Given the description of an element on the screen output the (x, y) to click on. 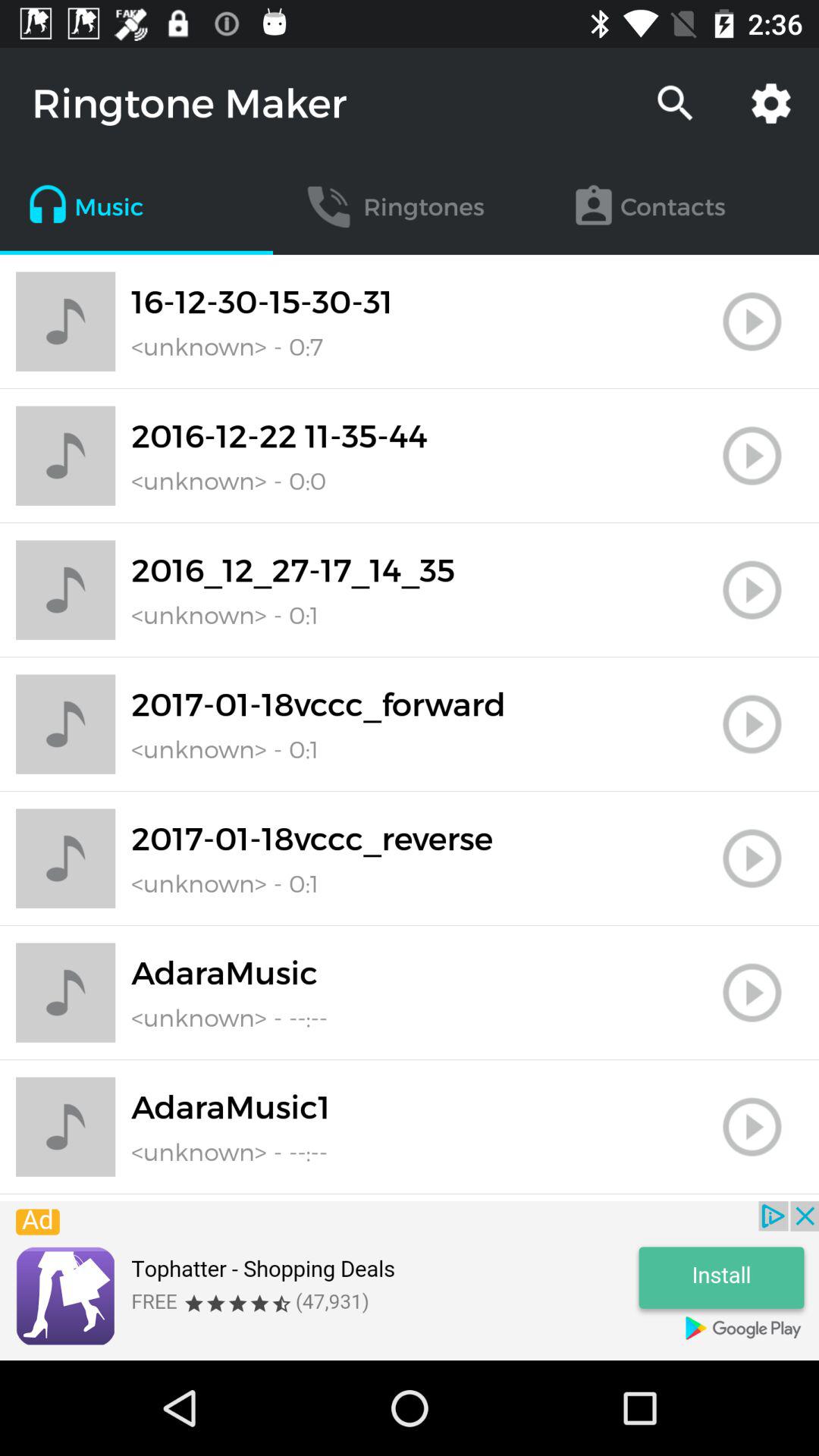
play audio (752, 1126)
